Given the description of an element on the screen output the (x, y) to click on. 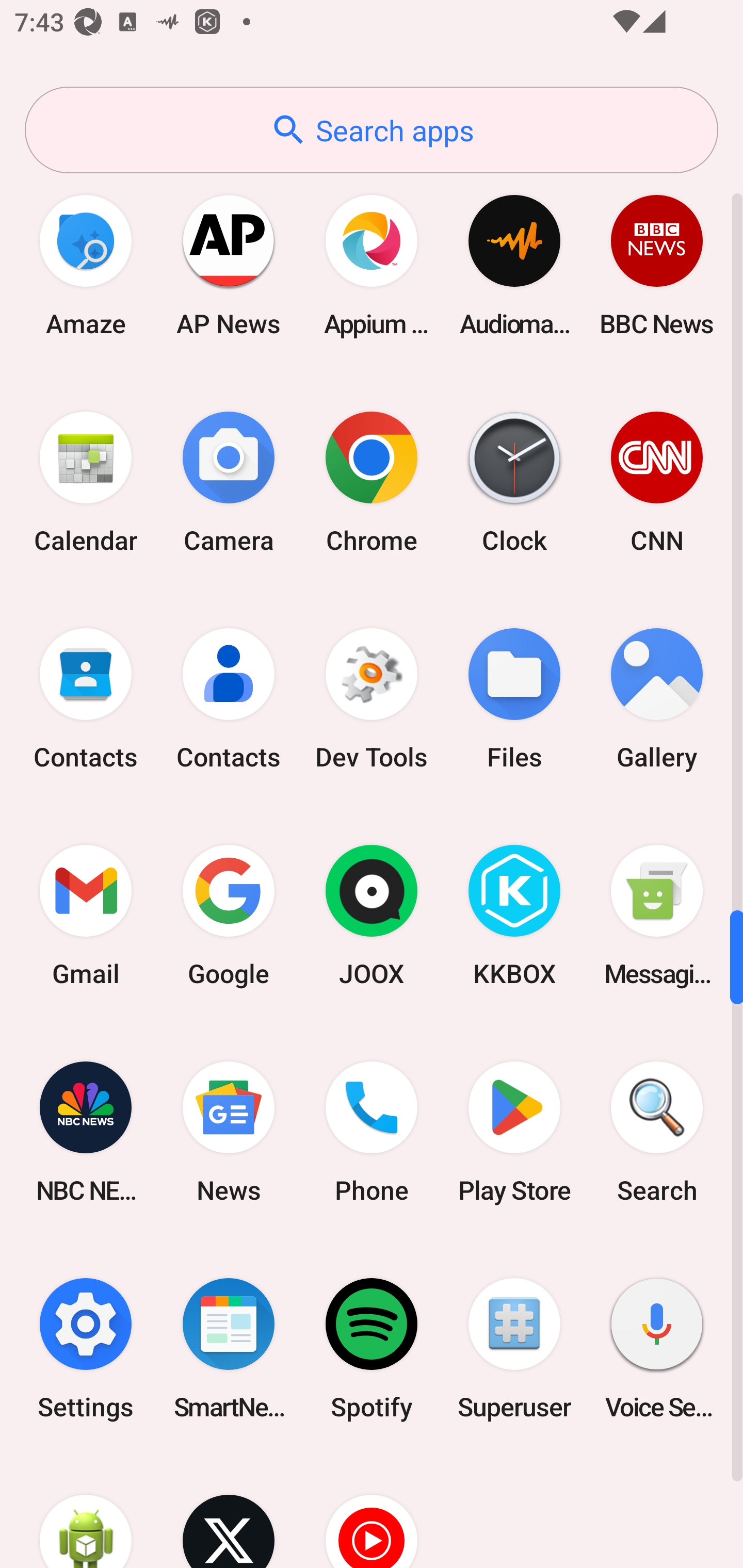
  Search apps (371, 130)
Amaze (85, 264)
AP News (228, 264)
Appium Settings (371, 264)
Audio­mack (514, 264)
BBC News (656, 264)
Calendar (85, 482)
Camera (228, 482)
Chrome (371, 482)
Clock (514, 482)
CNN (656, 482)
Contacts (85, 699)
Contacts (228, 699)
Dev Tools (371, 699)
Files (514, 699)
Gallery (656, 699)
Gmail (85, 915)
Google (228, 915)
JOOX (371, 915)
KKBOX (514, 915)
Messaging (656, 915)
NBC NEWS (85, 1131)
News (228, 1131)
Phone (371, 1131)
Play Store (514, 1131)
Search (656, 1131)
Settings (85, 1348)
SmartNews (228, 1348)
Spotify (371, 1348)
Superuser (514, 1348)
Voice Search (656, 1348)
